Given the description of an element on the screen output the (x, y) to click on. 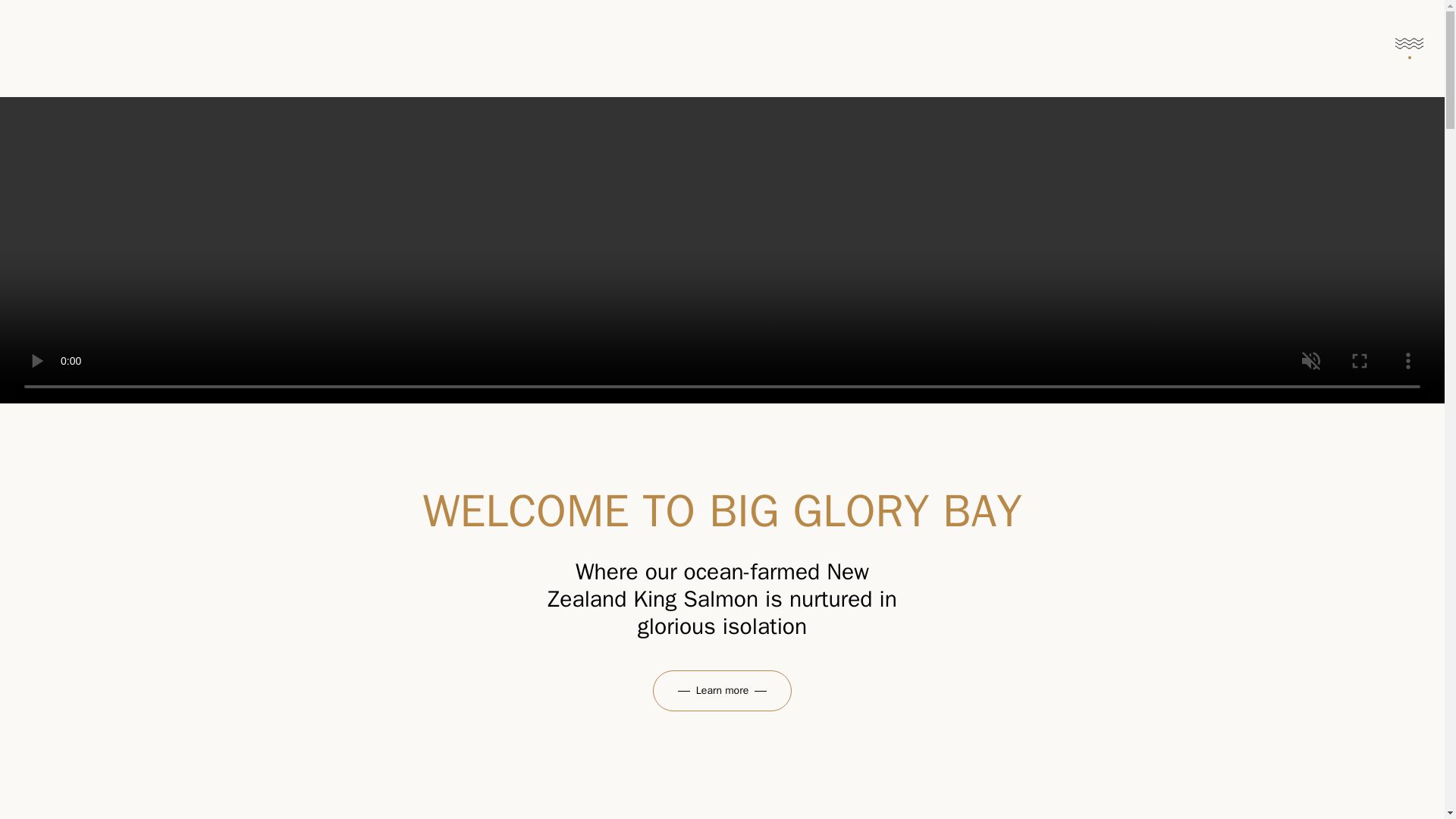
Learn more (722, 690)
